Given the description of an element on the screen output the (x, y) to click on. 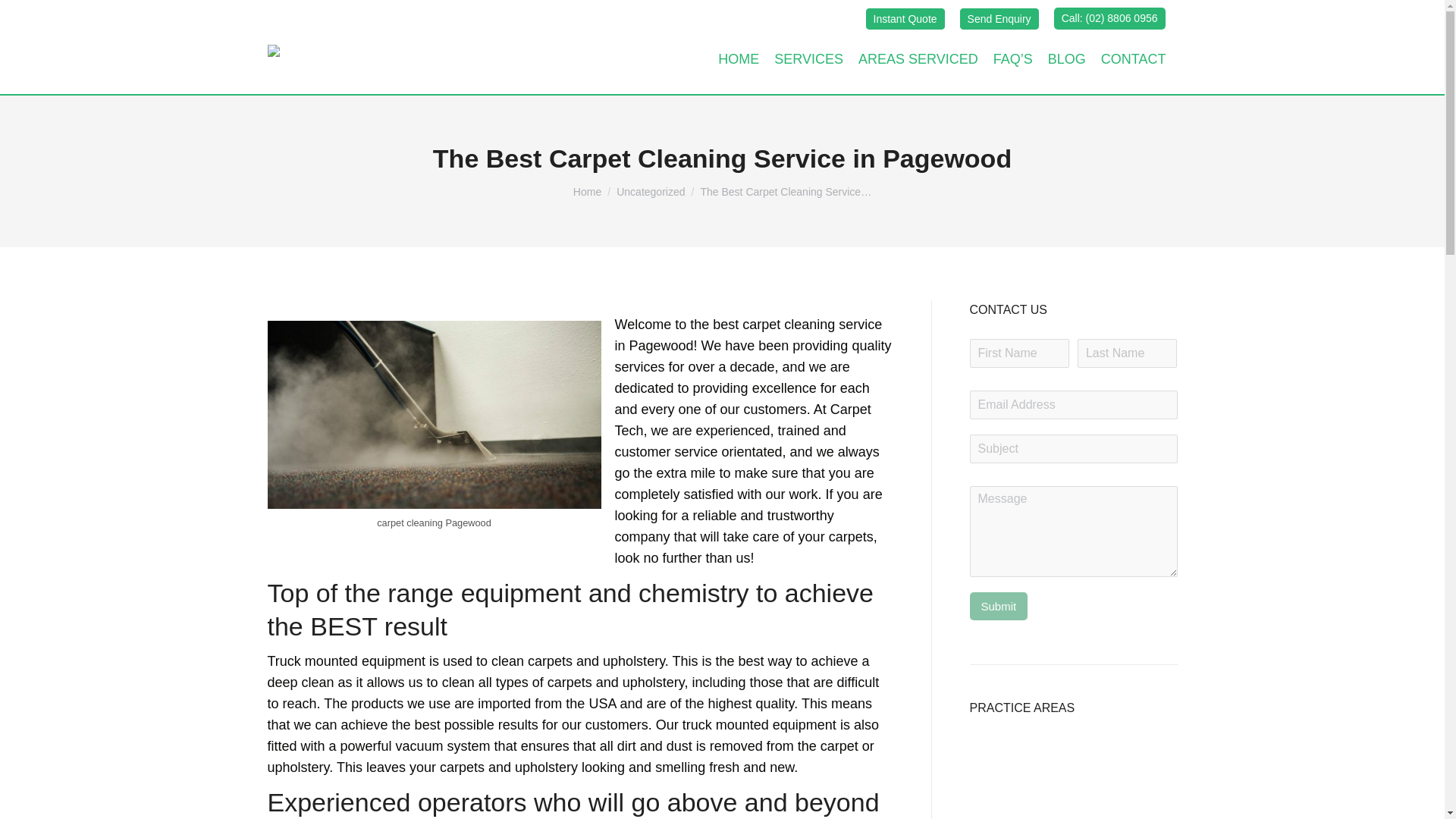
SERVICES (808, 59)
HOME (738, 59)
Send Enquiry (999, 17)
BLOG (1067, 59)
Go! (24, 16)
CONTACT (1133, 59)
Uncategorized (649, 191)
Instant Quote (905, 17)
Home (587, 191)
AREAS SERVICED (917, 59)
